Given the description of an element on the screen output the (x, y) to click on. 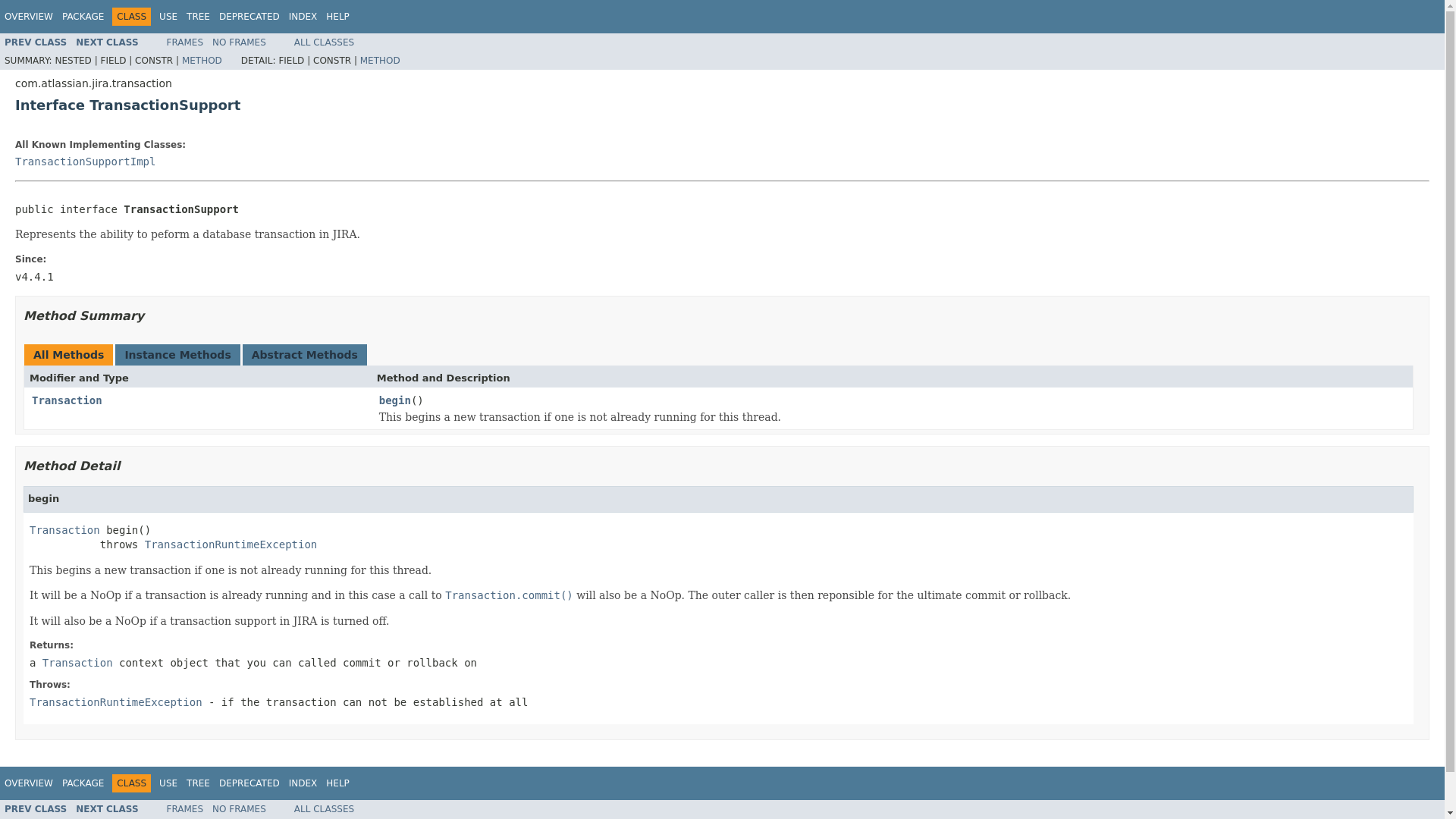
FRAMES (185, 41)
Transaction (64, 529)
Navigation (176, 782)
class in com.atlassian.jira.transaction (106, 808)
class in com.atlassian.jira.transaction (115, 702)
ALL CLASSES (323, 41)
USE (167, 783)
METHOD (379, 60)
PACKAGE (82, 783)
Transaction (66, 399)
NO FRAMES (239, 41)
TransactionRuntimeException (115, 702)
NEXT CLASS (106, 41)
PREV CLASS (35, 41)
TREE (197, 783)
